Given the description of an element on the screen output the (x, y) to click on. 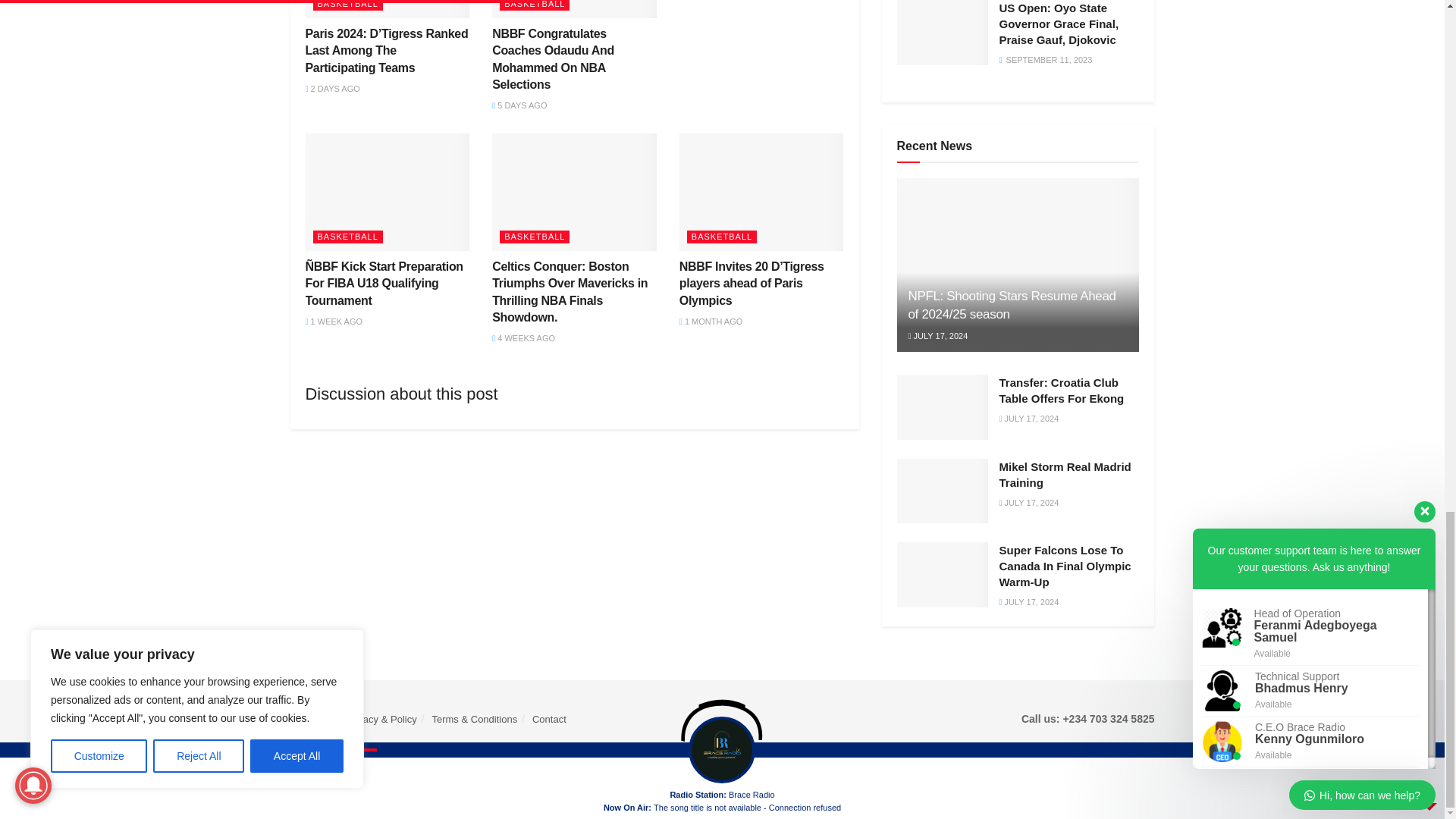
Jegtheme (543, 777)
Brace Radio (346, 777)
